Given the description of an element on the screen output the (x, y) to click on. 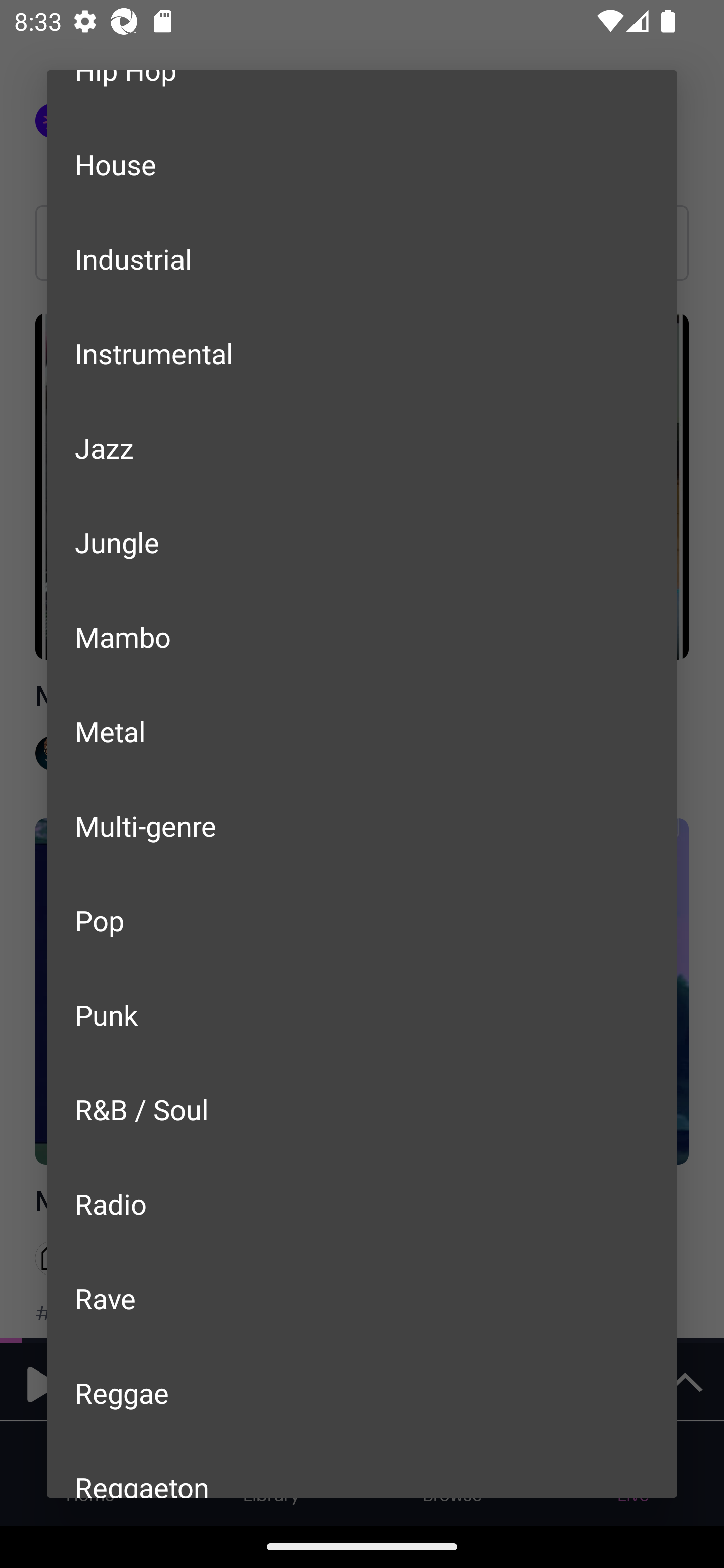
House (361, 164)
Industrial (361, 258)
Instrumental (361, 352)
Jazz (361, 447)
Jungle (361, 542)
Mambo (361, 636)
Metal (361, 730)
Multi-genre (361, 825)
Pop (361, 920)
Punk (361, 1014)
R&B / Soul (361, 1109)
Radio (361, 1204)
Rave (361, 1298)
Reggae (361, 1392)
Reggaeton (361, 1468)
